Given the description of an element on the screen output the (x, y) to click on. 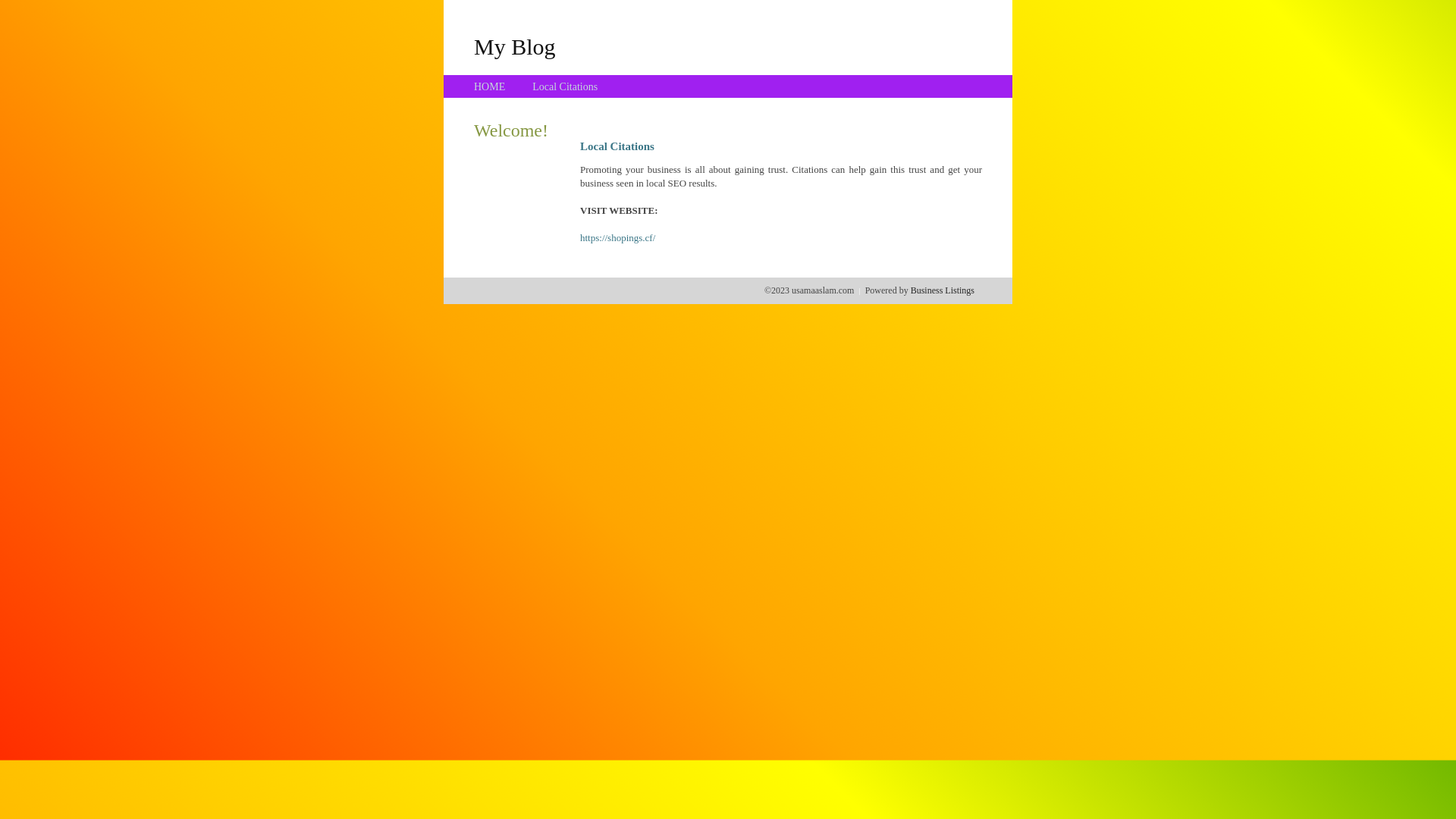
Business Listings Element type: text (942, 290)
Local Citations Element type: text (564, 86)
HOME Element type: text (489, 86)
https://shopings.cf/ Element type: text (617, 237)
My Blog Element type: text (514, 46)
